Given the description of an element on the screen output the (x, y) to click on. 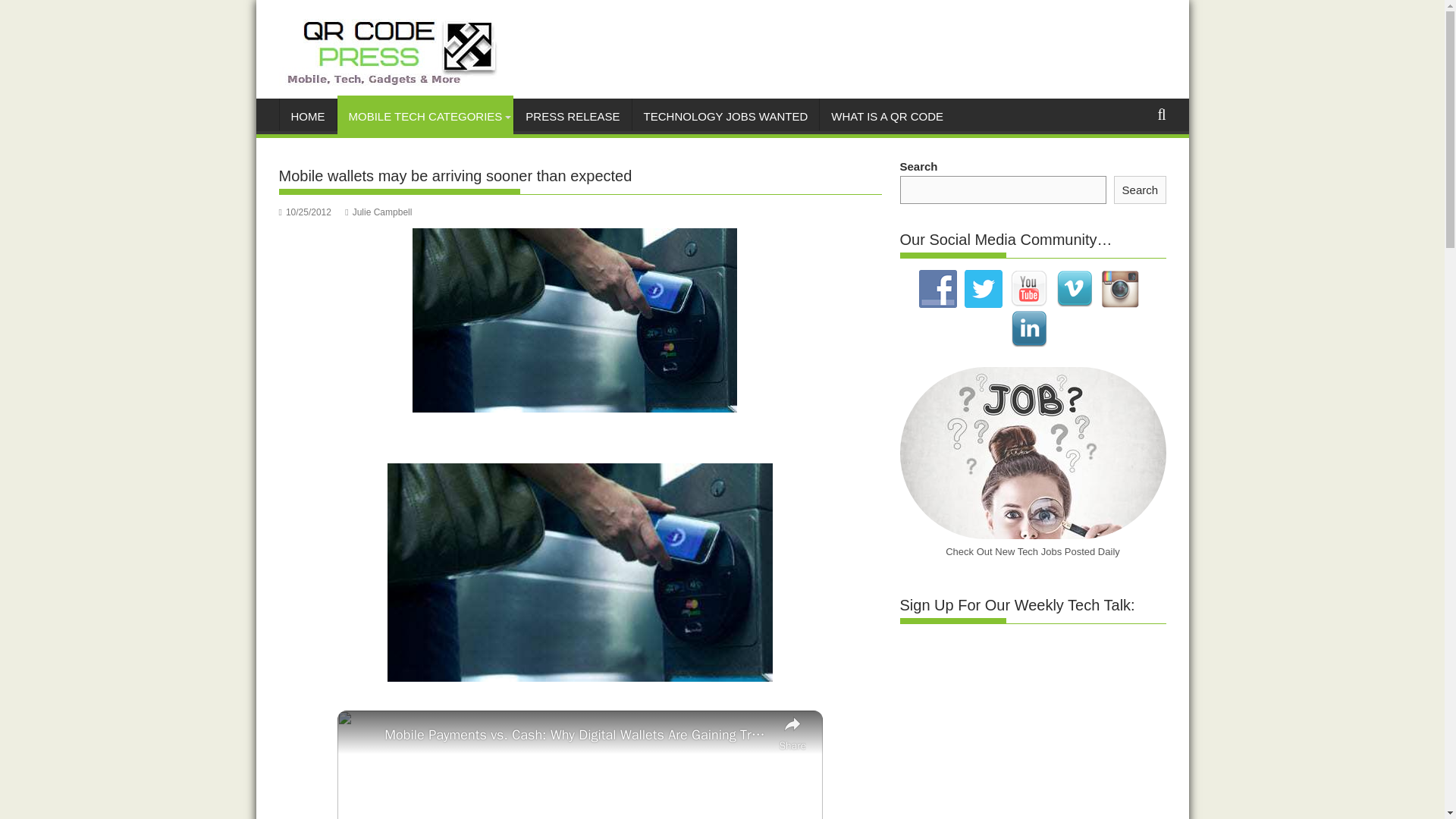
MOBILE TECH CATEGORIES (424, 116)
WHAT IS A QR CODE (887, 116)
TECHNOLOGY JOBS WANTED (725, 116)
PRESS RELEASE (571, 116)
Mobile wallets may be arriving sooner than expected 1 (574, 320)
mobile wallets (580, 572)
HOME (307, 116)
